Given the description of an element on the screen output the (x, y) to click on. 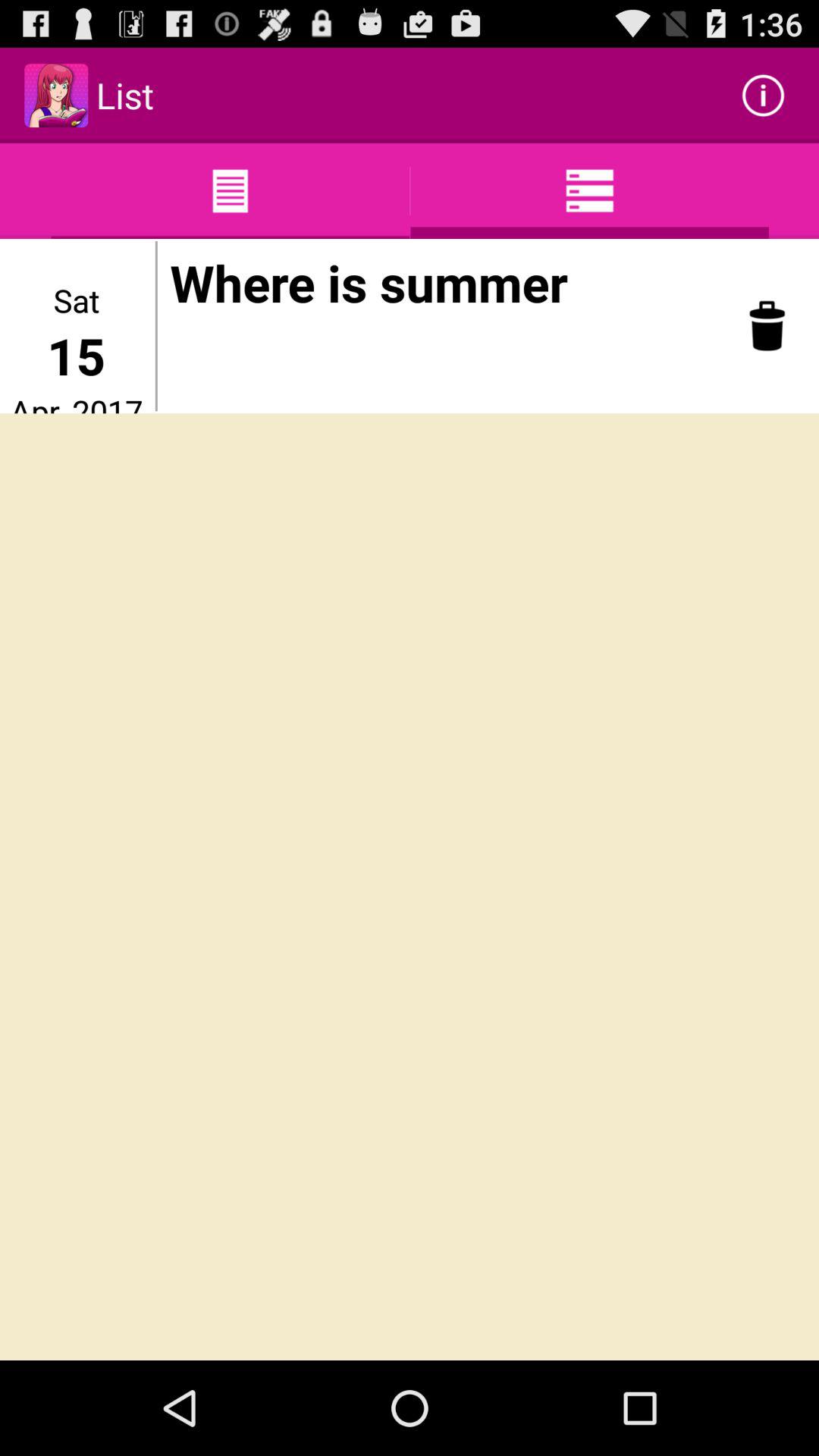
launch item at the top (437, 282)
